Given the description of an element on the screen output the (x, y) to click on. 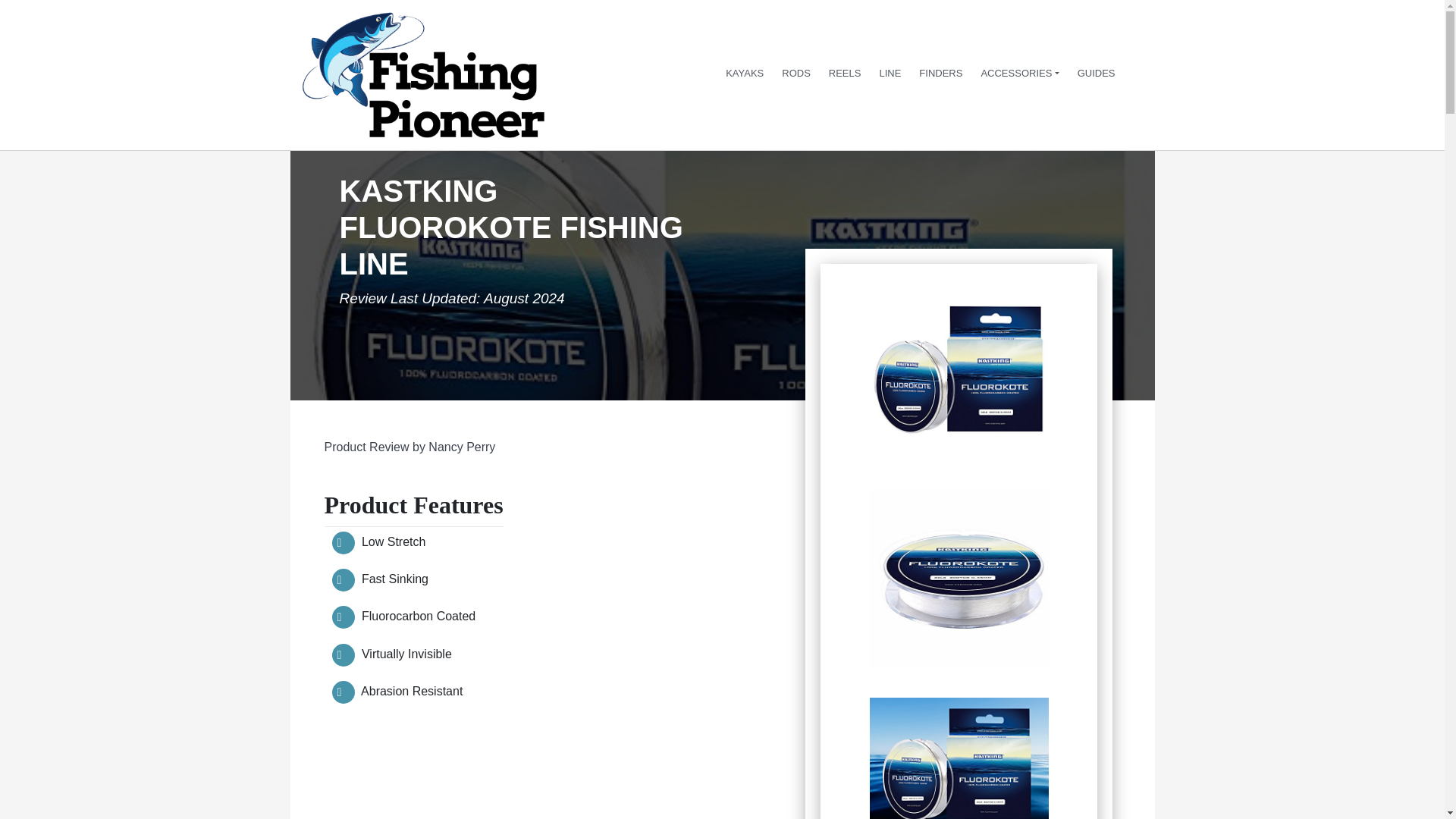
LINE (889, 73)
RODS (796, 73)
FINDERS (940, 73)
REELS (844, 73)
GUIDES (1096, 73)
KAYAKS (744, 73)
ACCESSORIES (1019, 73)
Learn more (937, 120)
